Given the description of an element on the screen output the (x, y) to click on. 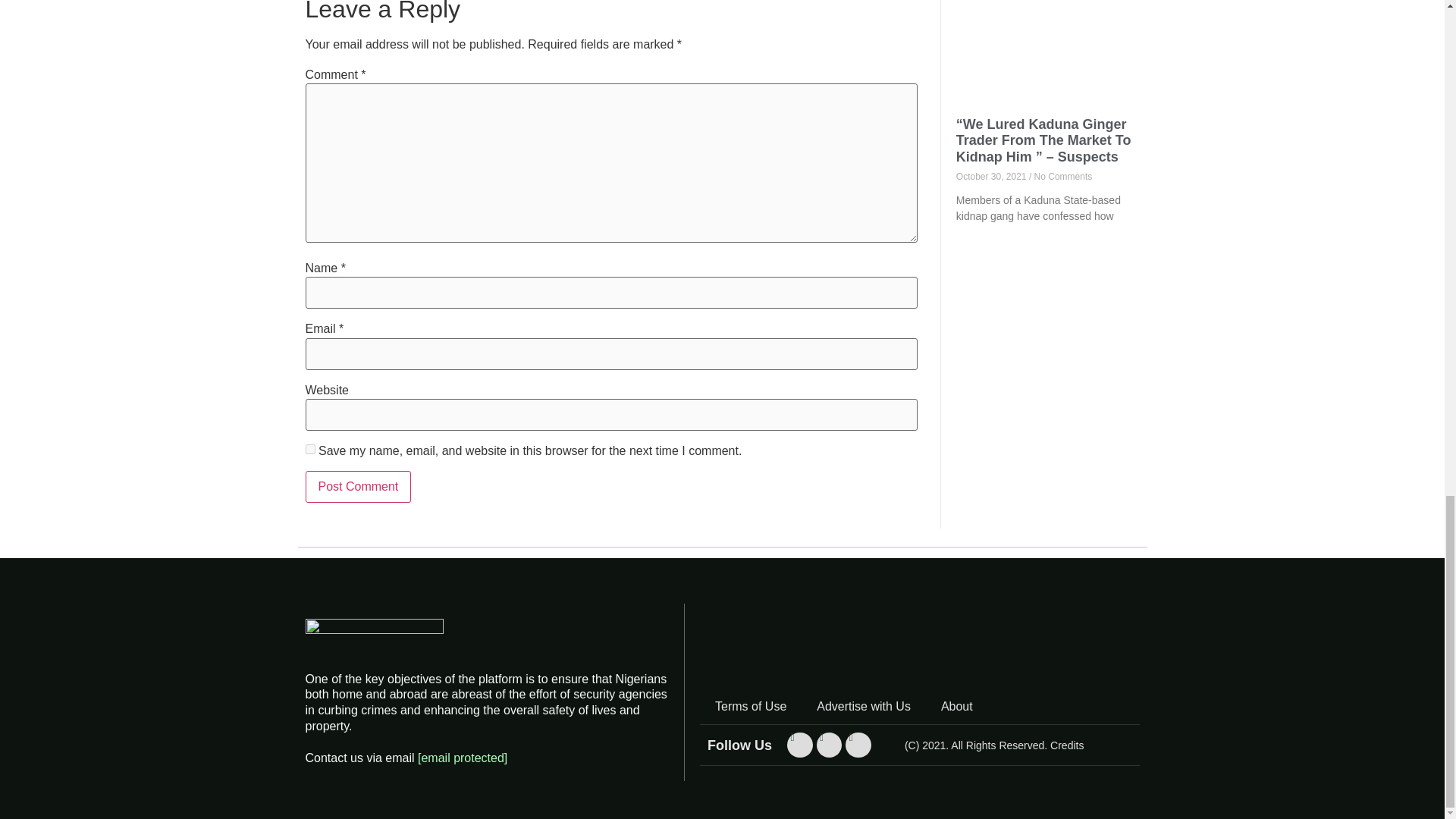
yes (309, 449)
Post Comment (357, 486)
